Given the description of an element on the screen output the (x, y) to click on. 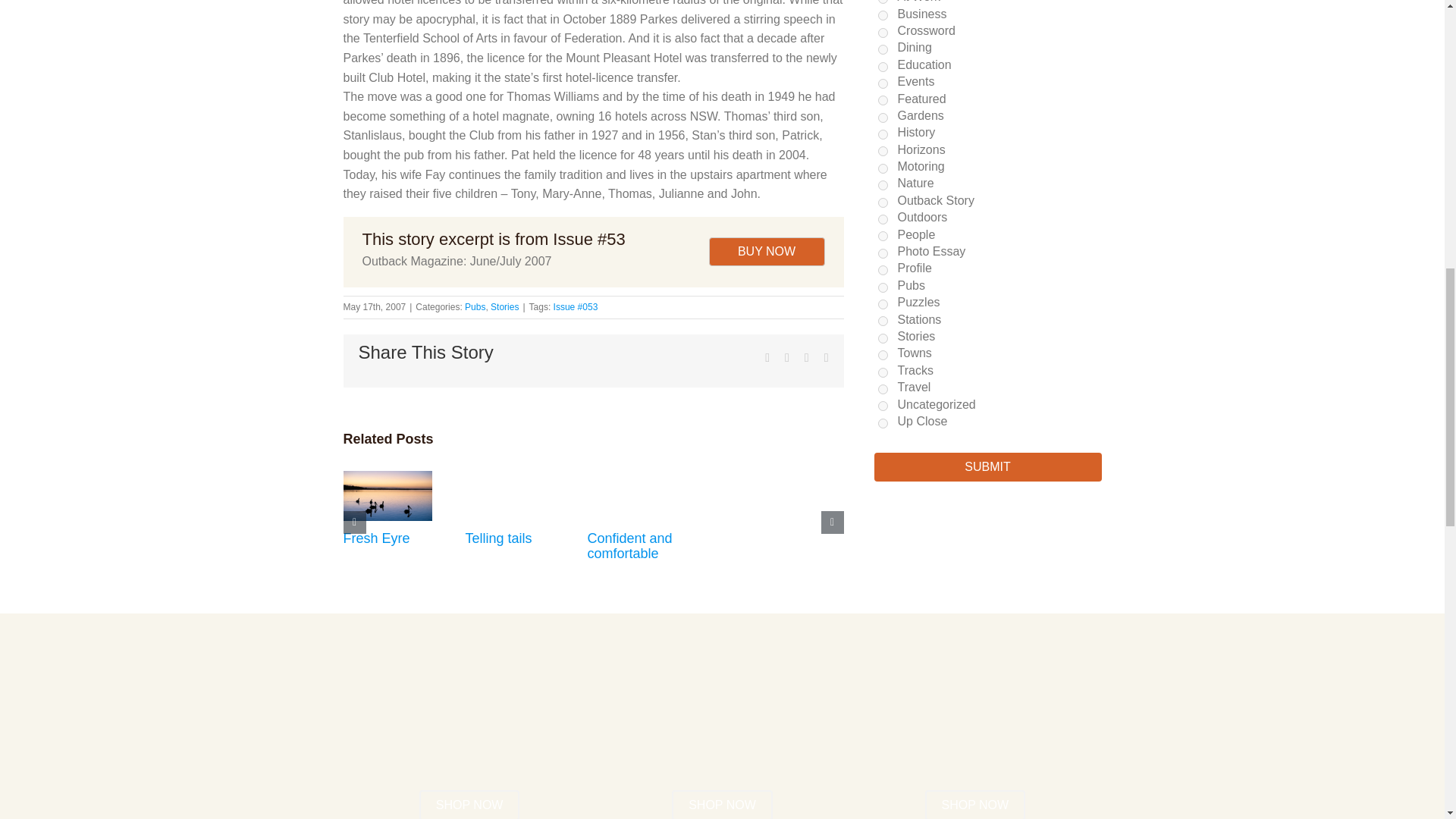
motoring (882, 168)
heading-issues-cta (721, 739)
dining (882, 49)
Fresh Eyre (375, 538)
outdoors (882, 219)
education (882, 67)
Pubs (474, 307)
Fresh Eyre (375, 538)
business (882, 15)
Confident and comfortable (628, 545)
Stories (504, 307)
nature (882, 185)
history (882, 134)
BUY NOW (765, 251)
crossword (882, 32)
